Given the description of an element on the screen output the (x, y) to click on. 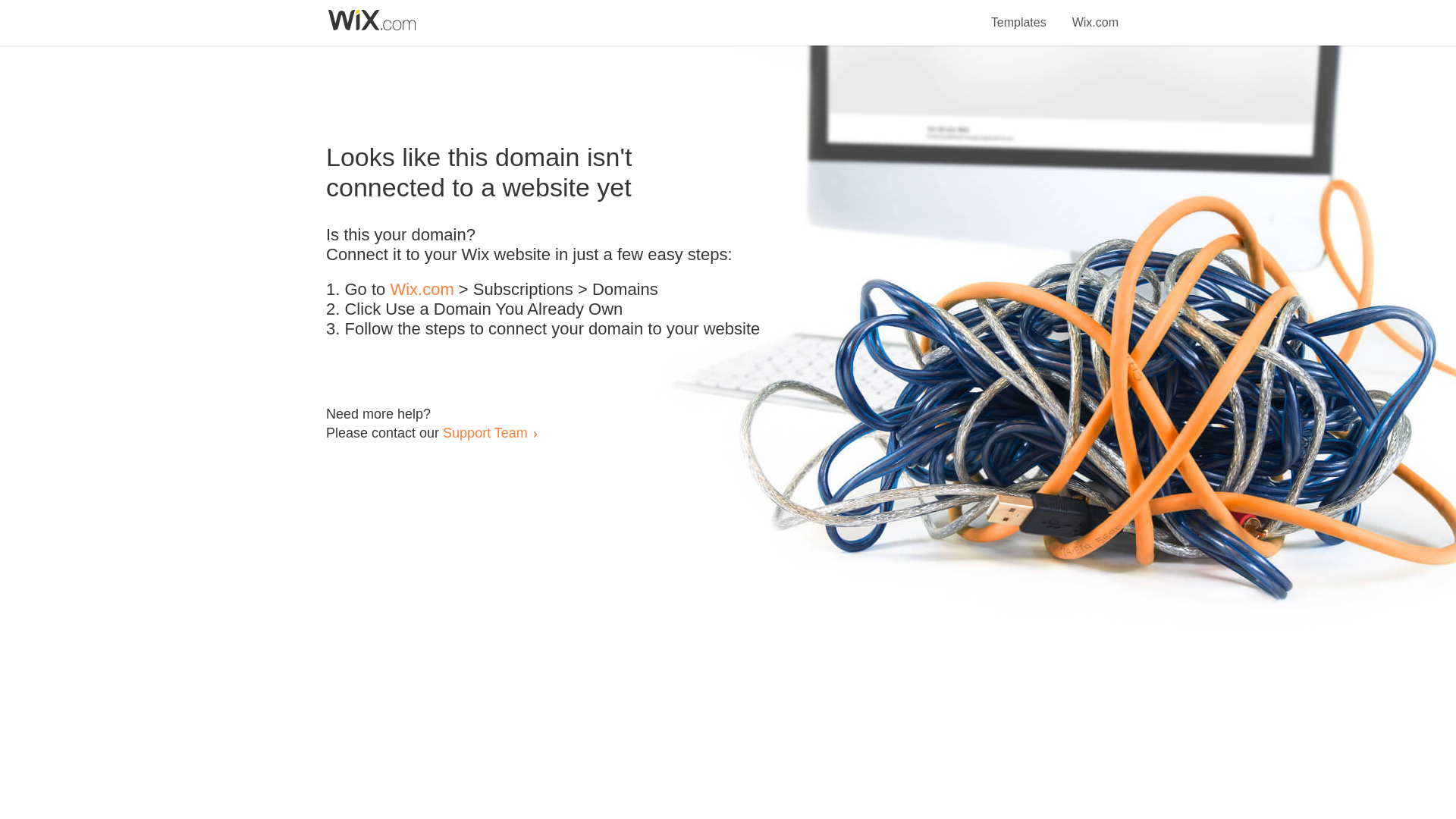
Support Team (484, 432)
Wix.com (421, 289)
Templates (1018, 14)
Wix.com (1095, 14)
